Given the description of an element on the screen output the (x, y) to click on. 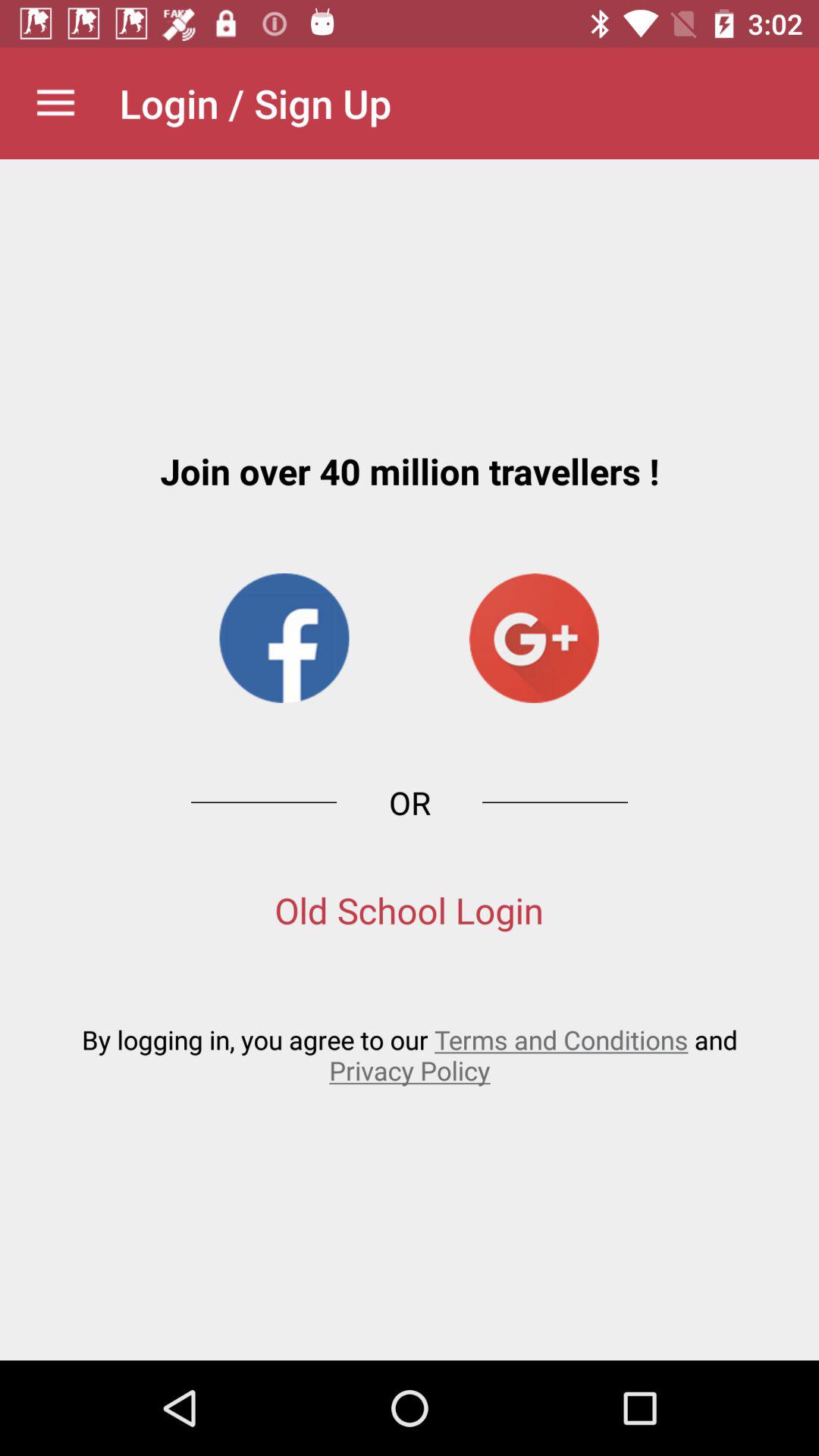
turn off the icon below the or icon (409, 910)
